Given the description of an element on the screen output the (x, y) to click on. 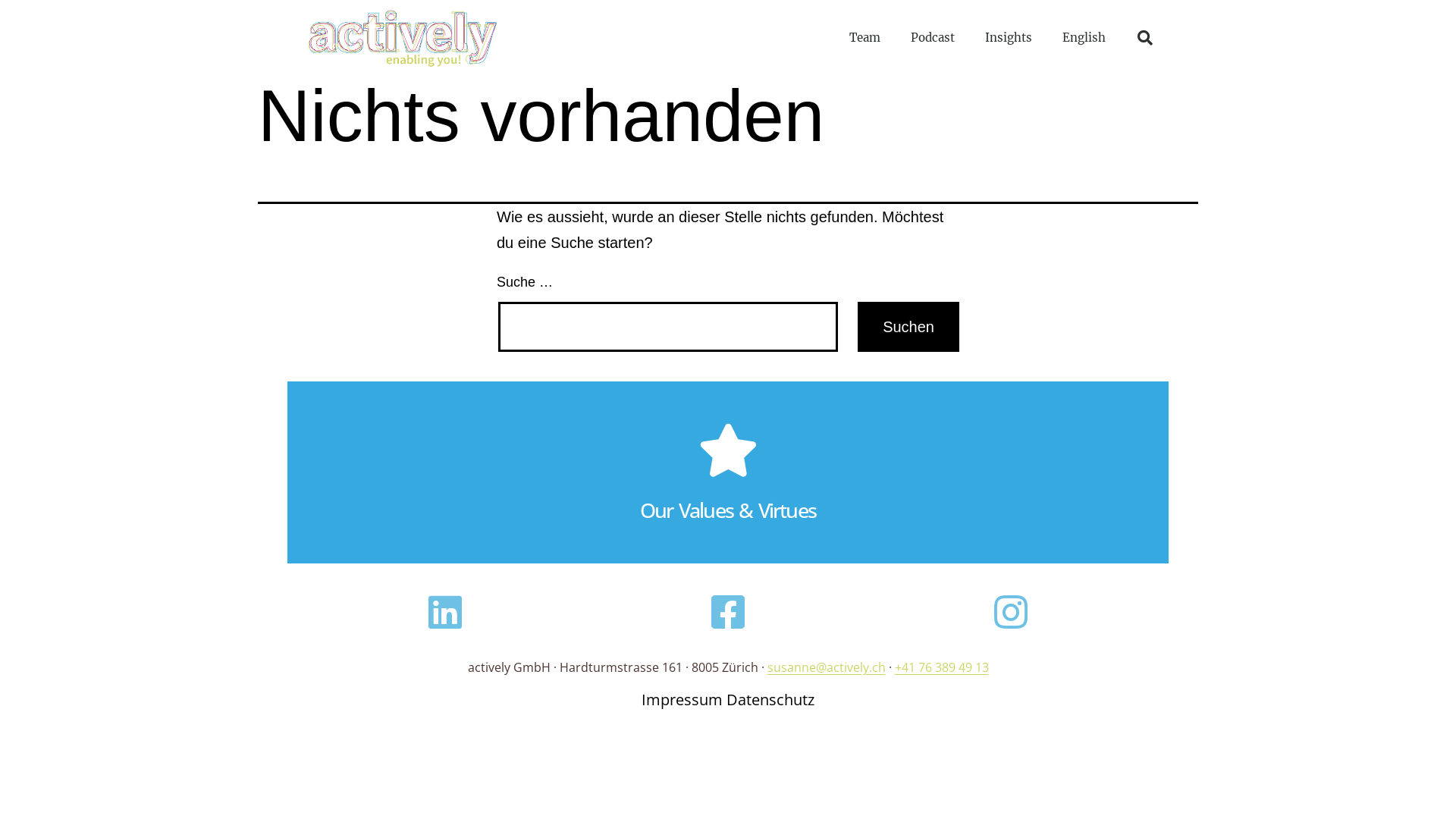
Impressum Element type: text (681, 699)
Datenschutz Element type: text (770, 699)
Suchen Element type: text (908, 326)
Insights Element type: text (1008, 37)
Team Element type: text (864, 37)
susanne@actively.ch Element type: text (826, 666)
Podcast Element type: text (932, 37)
+41 76 389 49 13 Element type: text (941, 666)
English Element type: text (1083, 37)
